Given the description of an element on the screen output the (x, y) to click on. 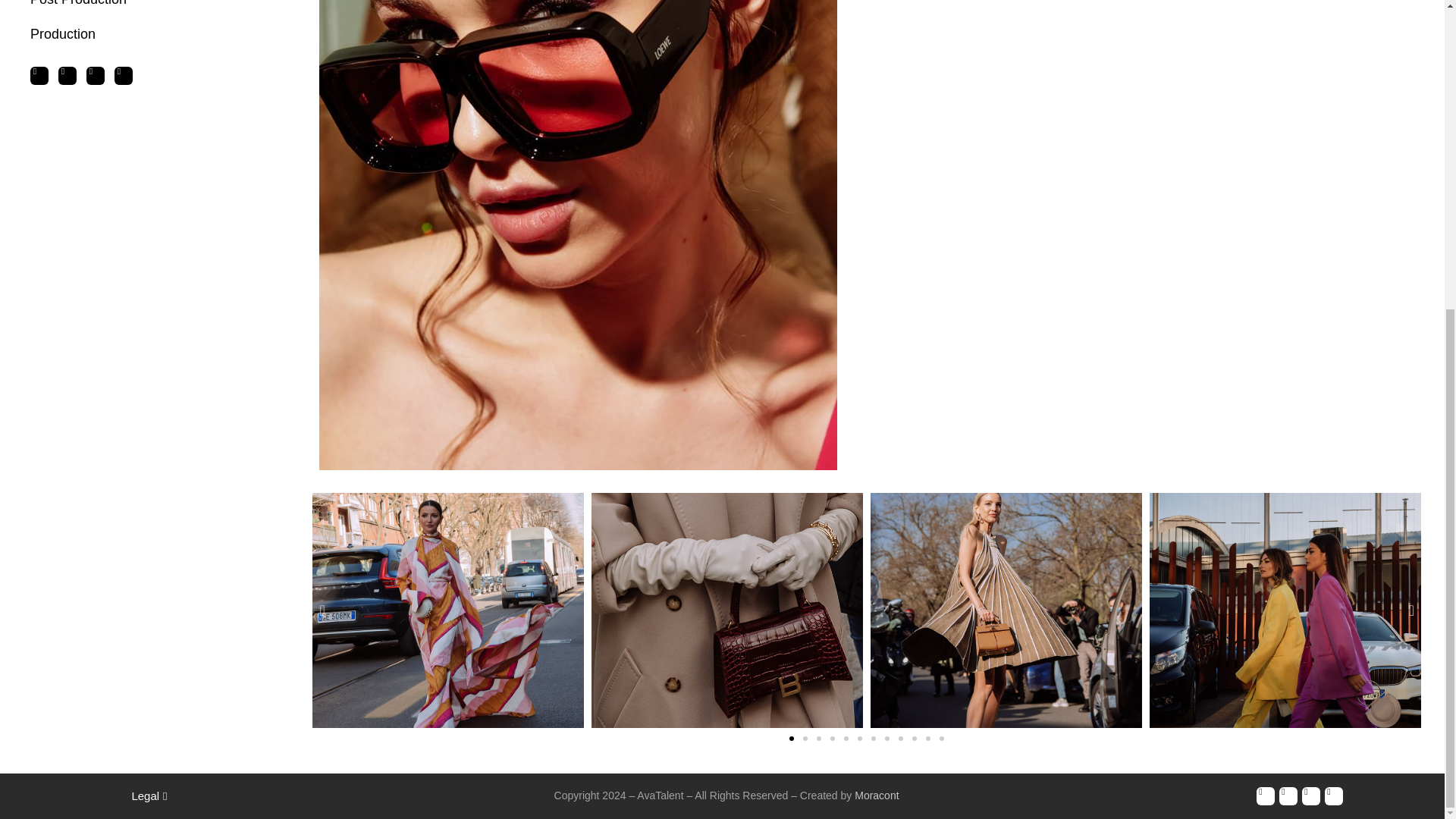
Production (151, 33)
Post Production (151, 8)
